Given the description of an element on the screen output the (x, y) to click on. 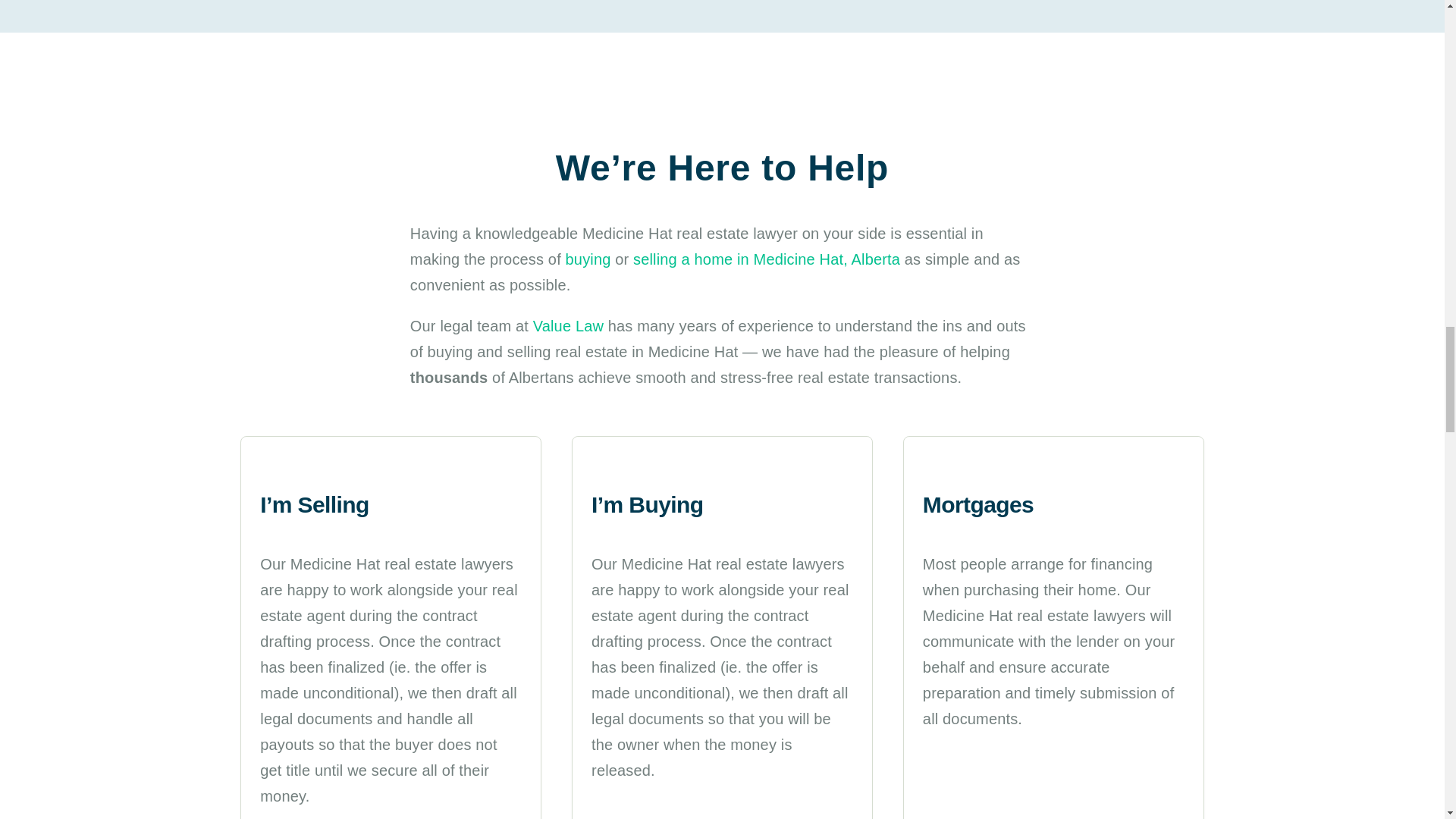
selling-a-home (274, 469)
purchasing-a-home (603, 469)
Mortgages (934, 469)
